Given the description of an element on the screen output the (x, y) to click on. 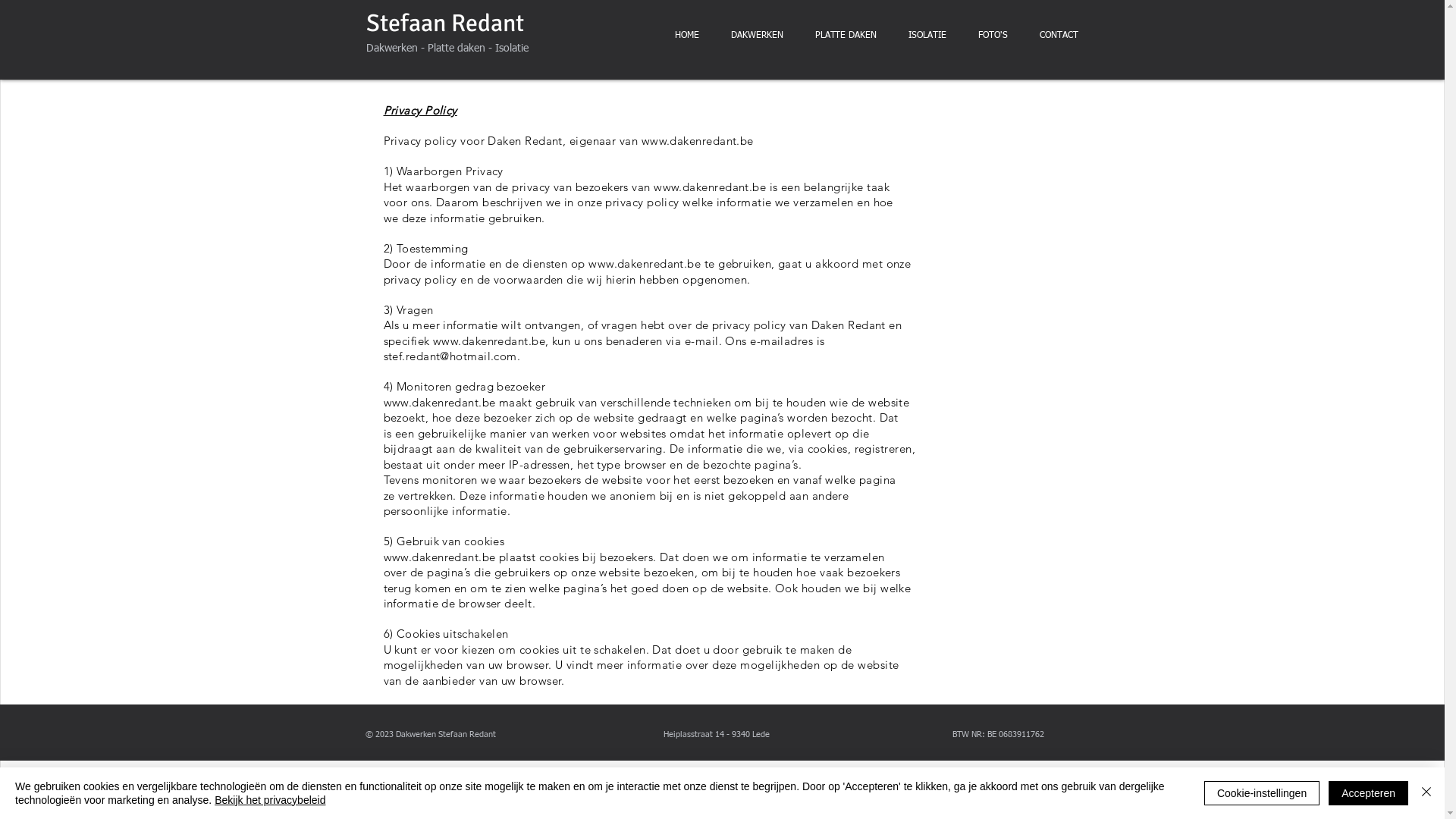
CONTACT Element type: text (1058, 35)
FOTO'S Element type: text (991, 35)
ISOLATIE Element type: text (926, 35)
Bekijk het privacybeleid Element type: text (269, 799)
Cookie-instellingen Element type: text (1261, 793)
www.dakenredant.be Element type: text (697, 140)
Accepteren Element type: text (1368, 793)
HOME Element type: text (686, 35)
